Given the description of an element on the screen output the (x, y) to click on. 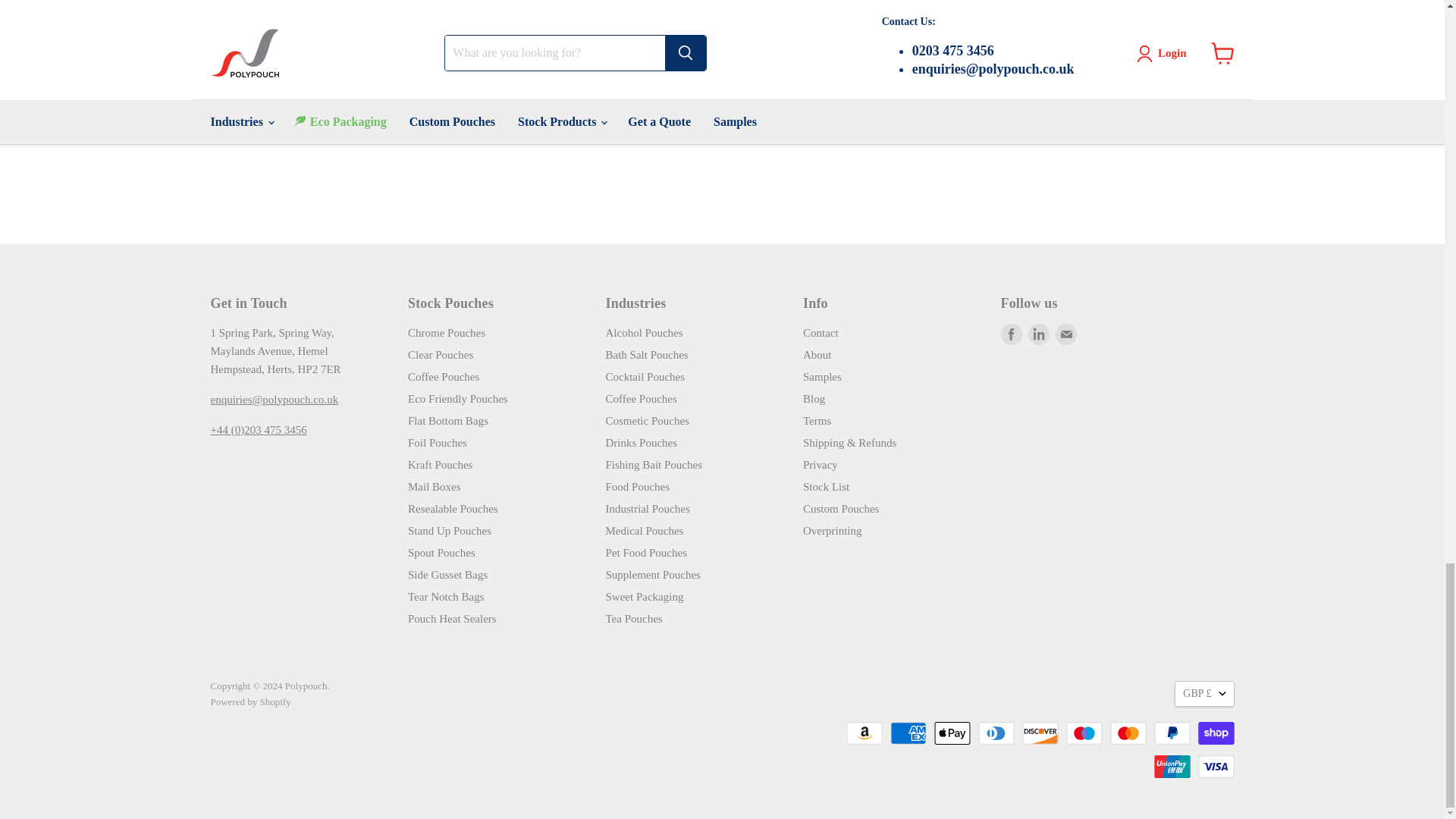
LinkedIn (1038, 333)
Facebook (1011, 333)
Email (1066, 333)
